Given the description of an element on the screen output the (x, y) to click on. 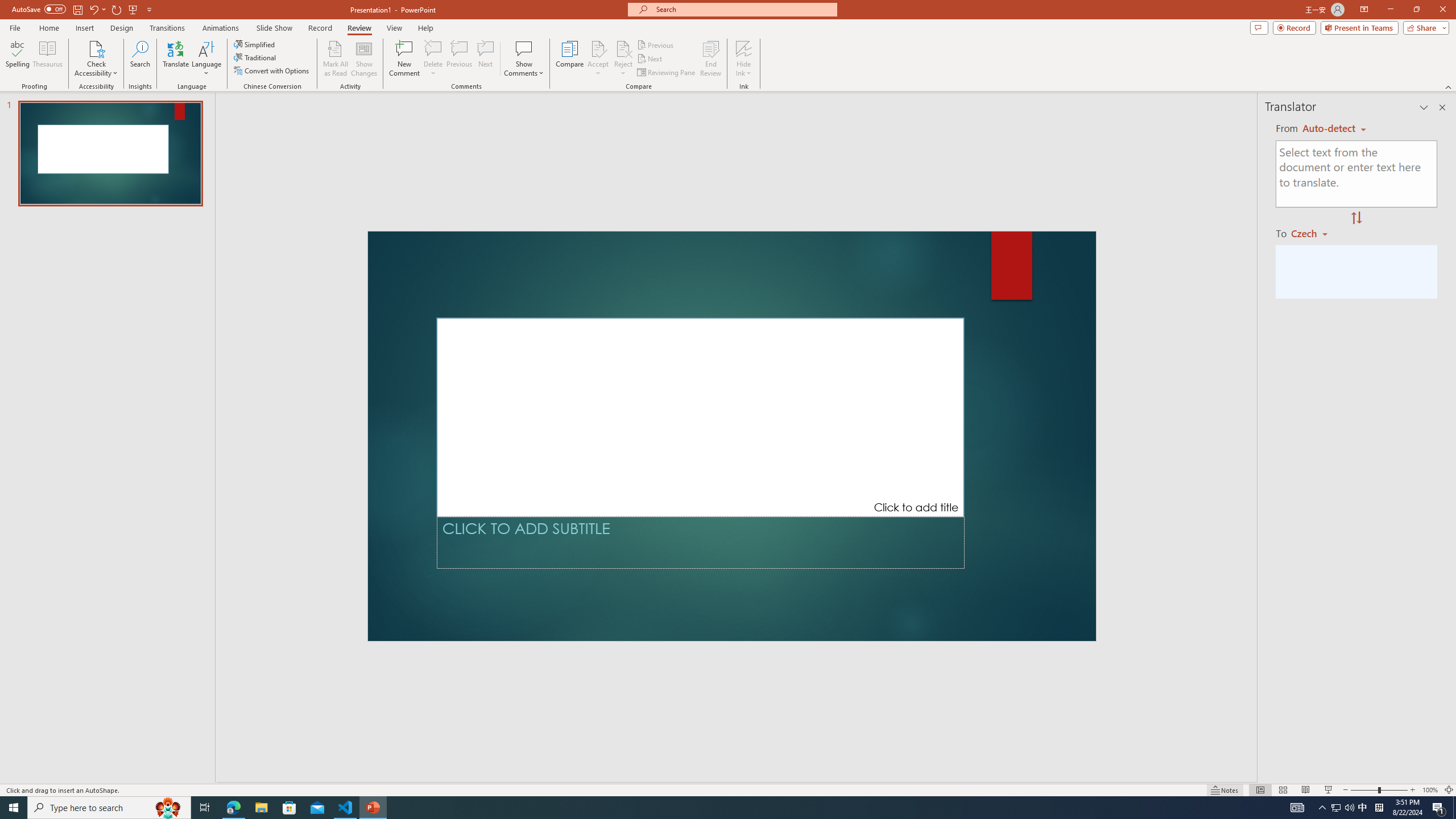
Auto-detect (1334, 128)
Convert with Options... (272, 69)
Czech (1313, 232)
Zoom 100% (1430, 790)
Accept Change (598, 48)
